Given the description of an element on the screen output the (x, y) to click on. 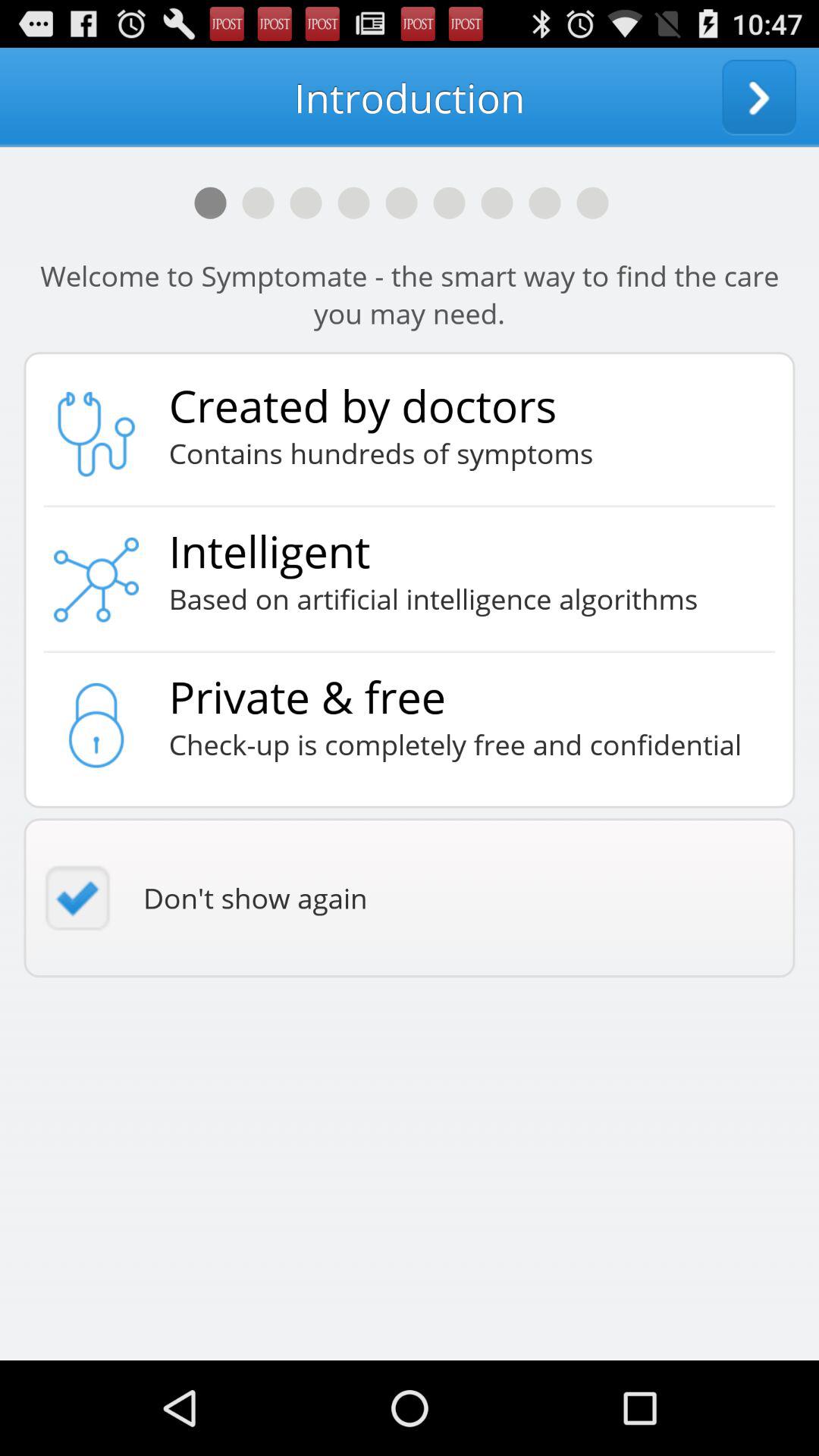
go to next page (759, 97)
